Given the description of an element on the screen output the (x, y) to click on. 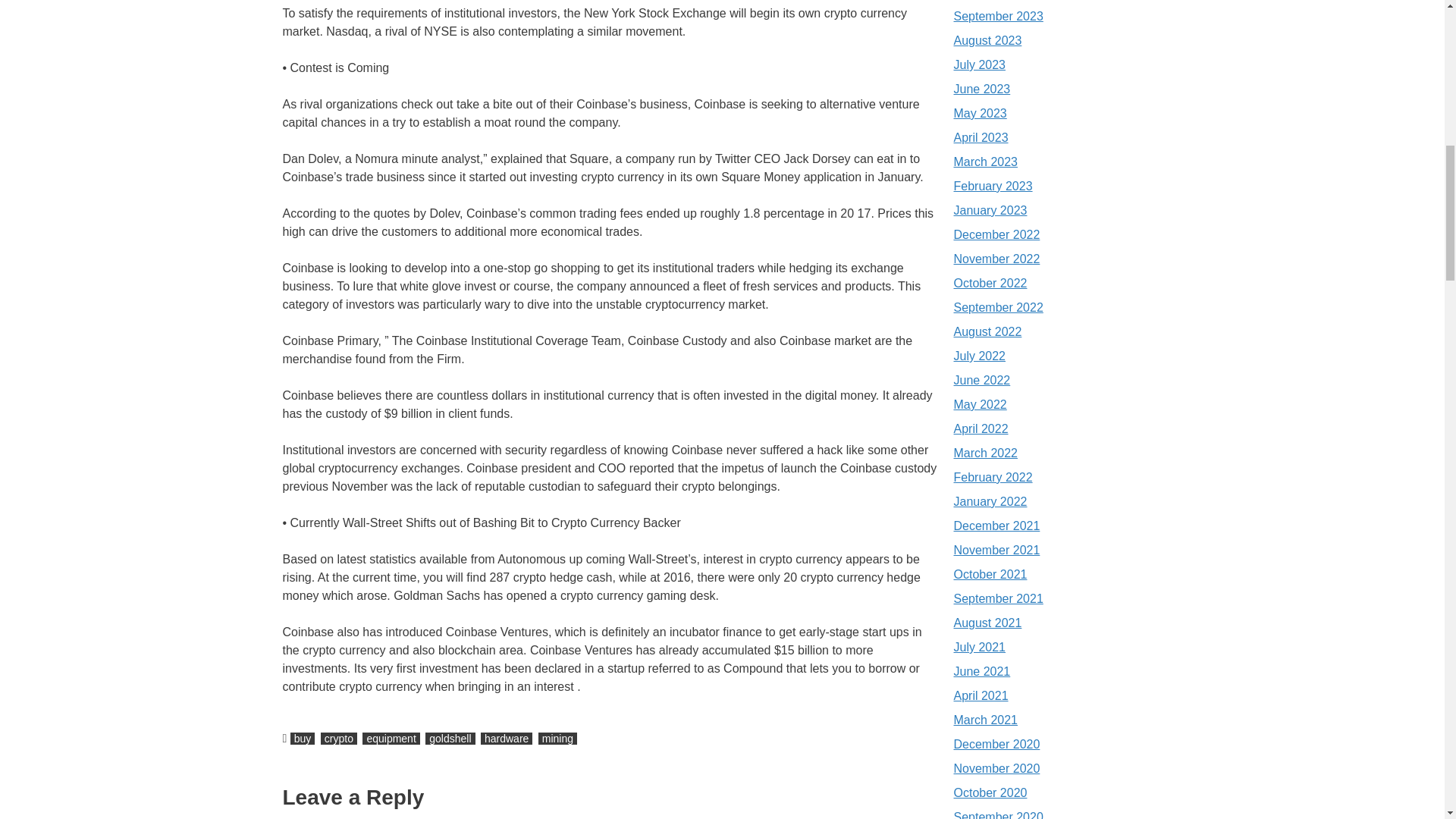
buy (302, 738)
equipment (390, 738)
hardware (506, 738)
crypto (338, 738)
September 2023 (998, 15)
mining (557, 738)
goldshell (449, 738)
